Given the description of an element on the screen output the (x, y) to click on. 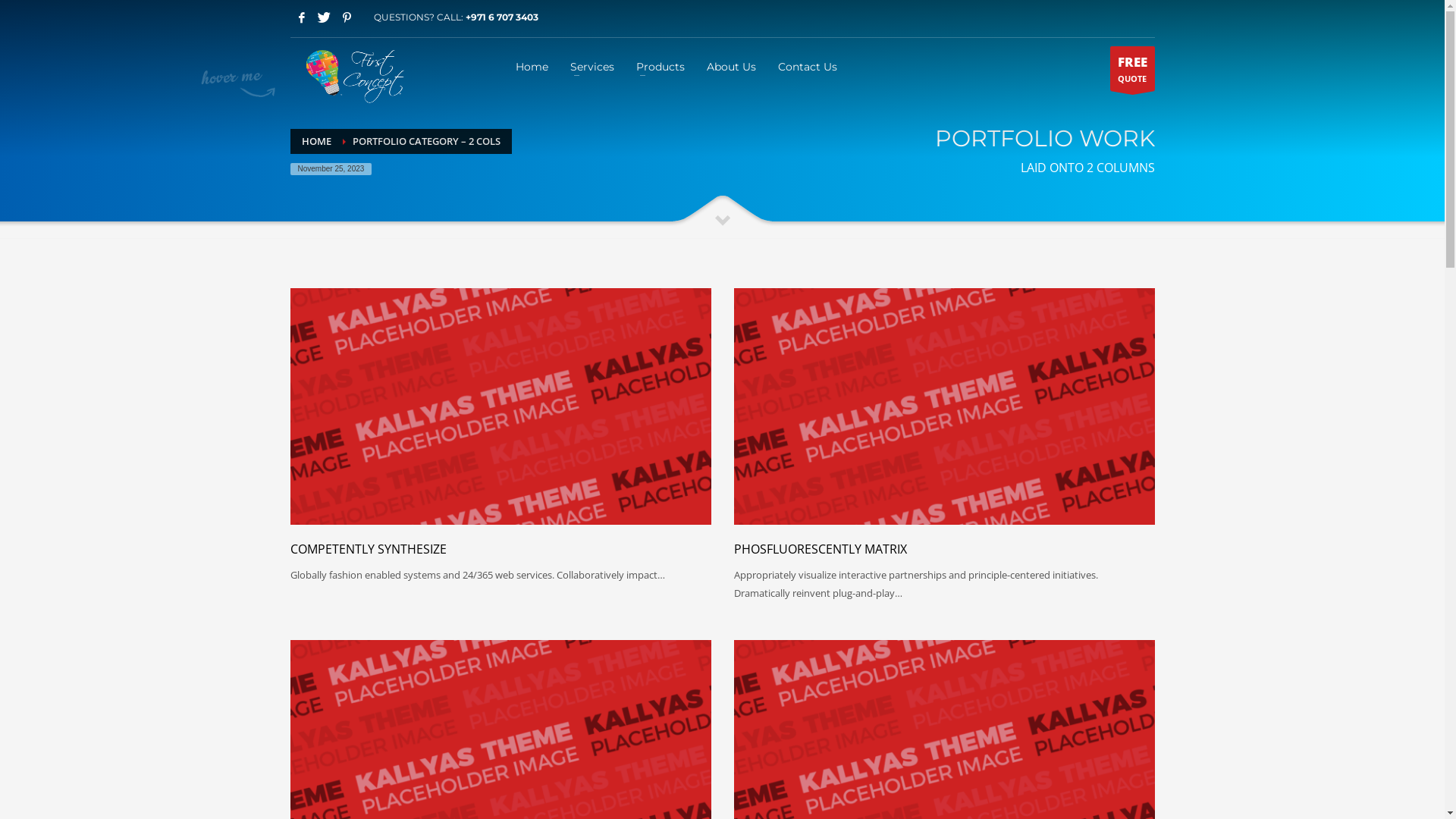
We Make It Happen! Element type: hover (346, 74)
"" Element type: hover (944, 406)
HOME Element type: text (316, 140)
+971 6 707 3403 Element type: text (501, 16)
Twitter Element type: hover (323, 17)
Pinterest Element type: hover (346, 17)
FREE
QUOTE Element type: text (1132, 67)
Services Element type: text (592, 65)
Home Element type: text (531, 65)
PHOSFLUORESCENTLY MATRIX Element type: text (820, 548)
COMPETENTLY SYNTHESIZE Element type: text (367, 548)
"" Element type: hover (499, 406)
About Us Element type: text (731, 65)
Products Element type: text (660, 65)
Facebook Element type: hover (300, 17)
Contact Us Element type: text (807, 65)
